Given the description of an element on the screen output the (x, y) to click on. 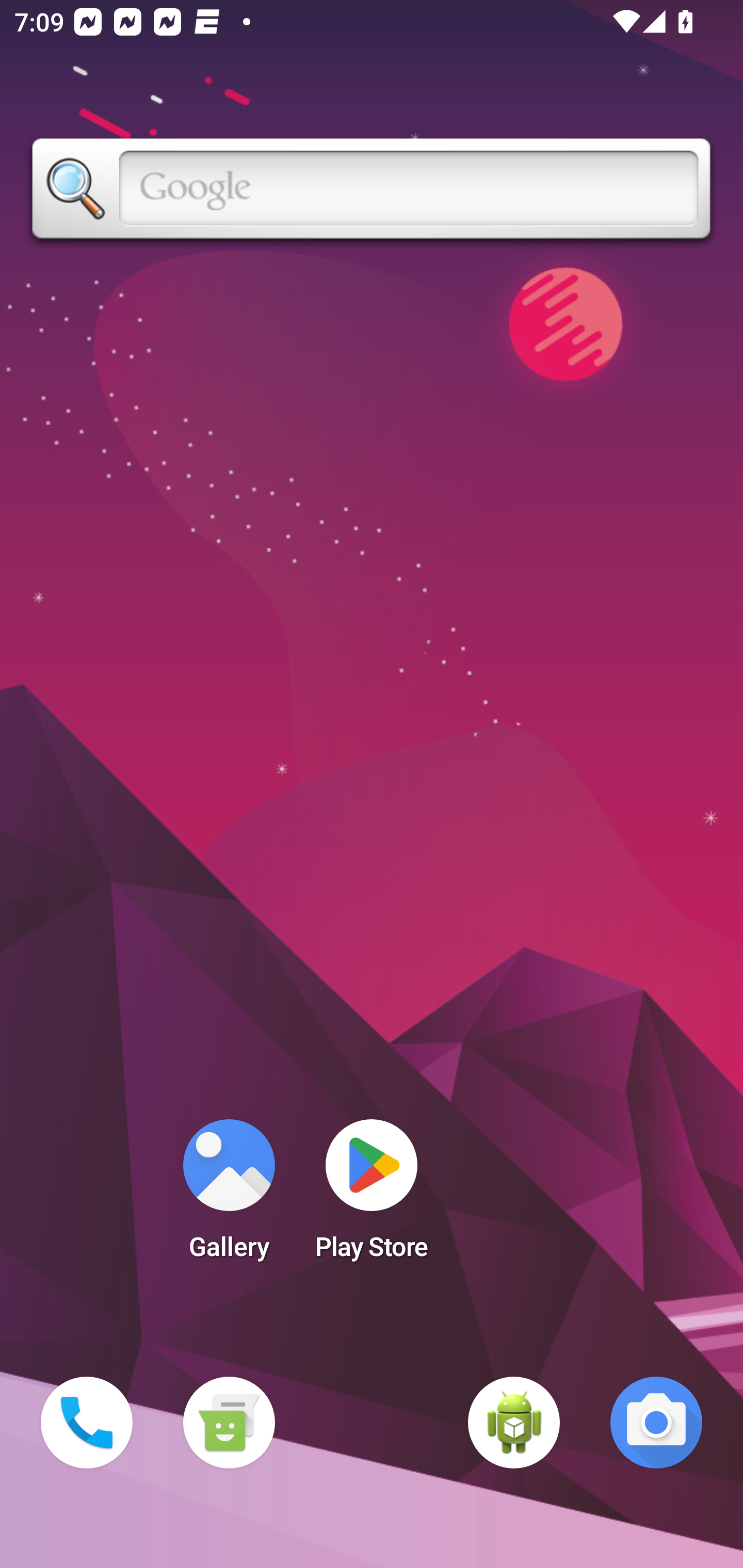
Gallery (228, 1195)
Play Store (371, 1195)
Phone (86, 1422)
Messaging (228, 1422)
WebView Browser Tester (513, 1422)
Camera (656, 1422)
